Given the description of an element on the screen output the (x, y) to click on. 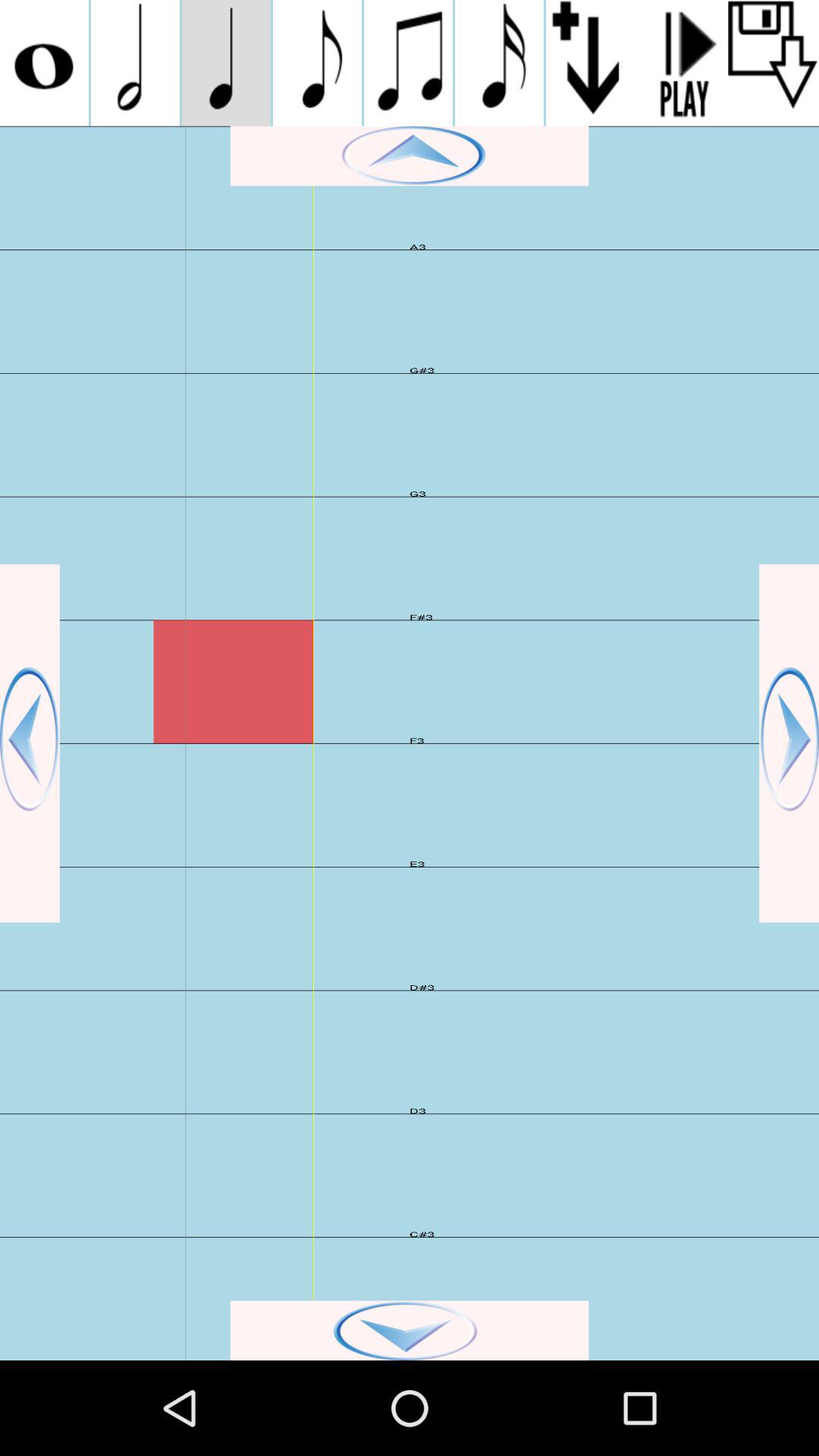
place quarter note (226, 63)
